Given the description of an element on the screen output the (x, y) to click on. 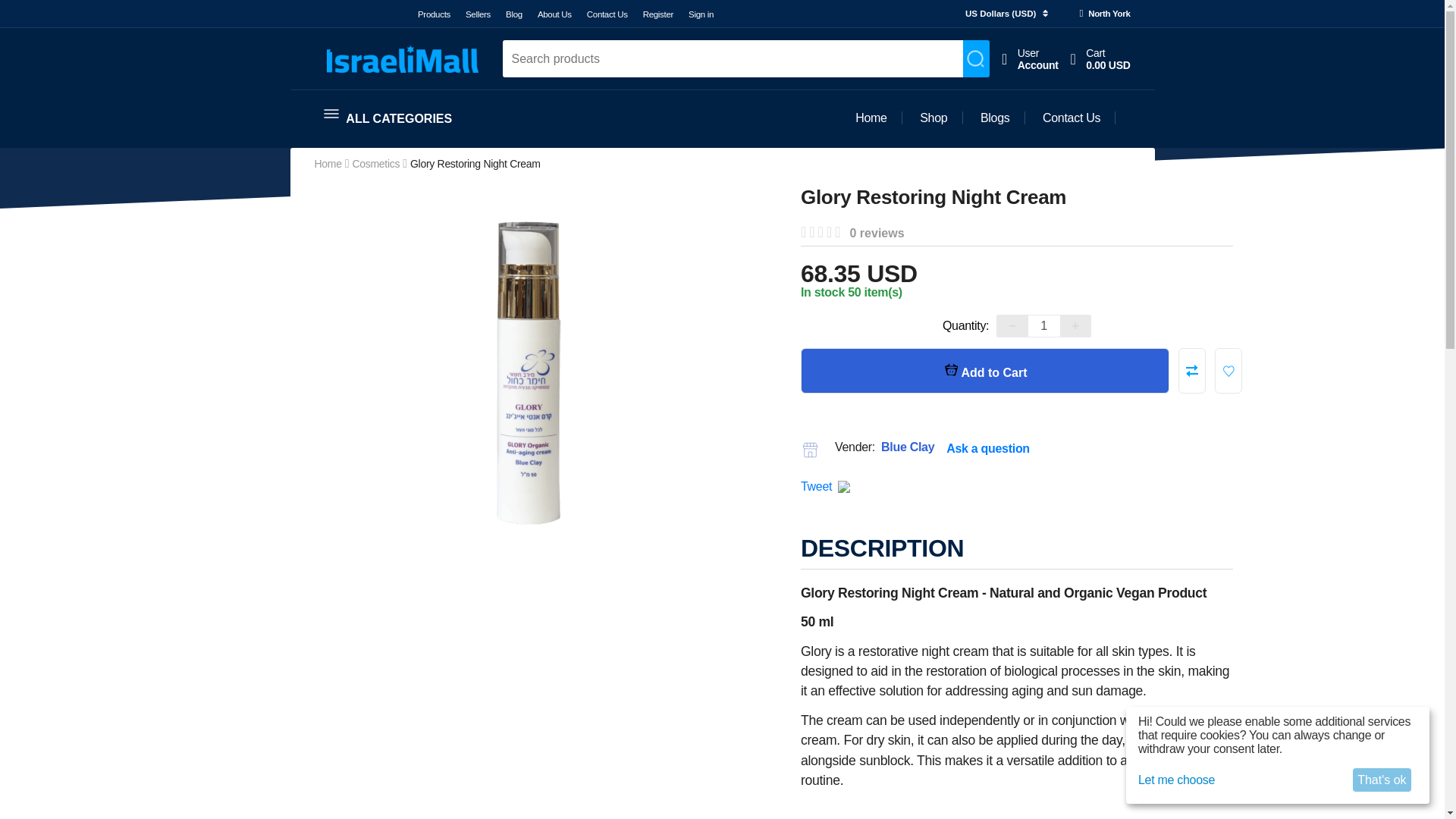
Sign in (700, 13)
About Us (554, 13)
ALL CATEGORIES (387, 116)
Products (1100, 58)
Sellers (433, 13)
1 (477, 13)
Blog (1029, 58)
Register (1044, 325)
North York (513, 13)
Contact Us (657, 13)
